Given the description of an element on the screen output the (x, y) to click on. 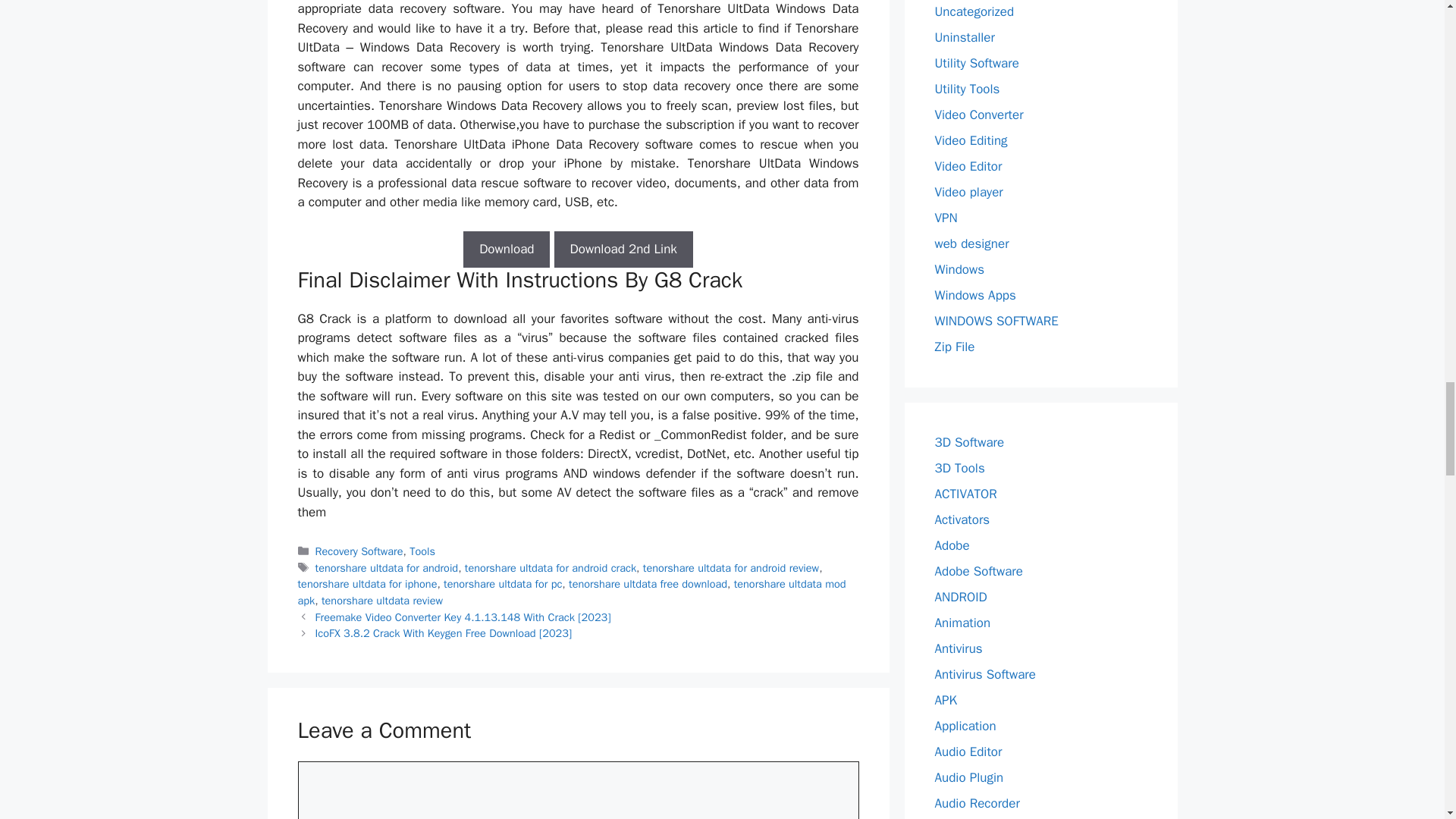
Tools (422, 550)
tenorshare ultdata for android (386, 567)
tenorshare ultdata for iphone (366, 583)
tenorshare ultdata review (381, 600)
tenorshare ultdata mod apk (571, 592)
tenorshare ultdata for pc (503, 583)
tenorshare ultdata for android review (730, 567)
tenorshare ultdata free download (647, 583)
Recovery Software (359, 550)
Download 2nd Link (623, 248)
